Given the description of an element on the screen output the (x, y) to click on. 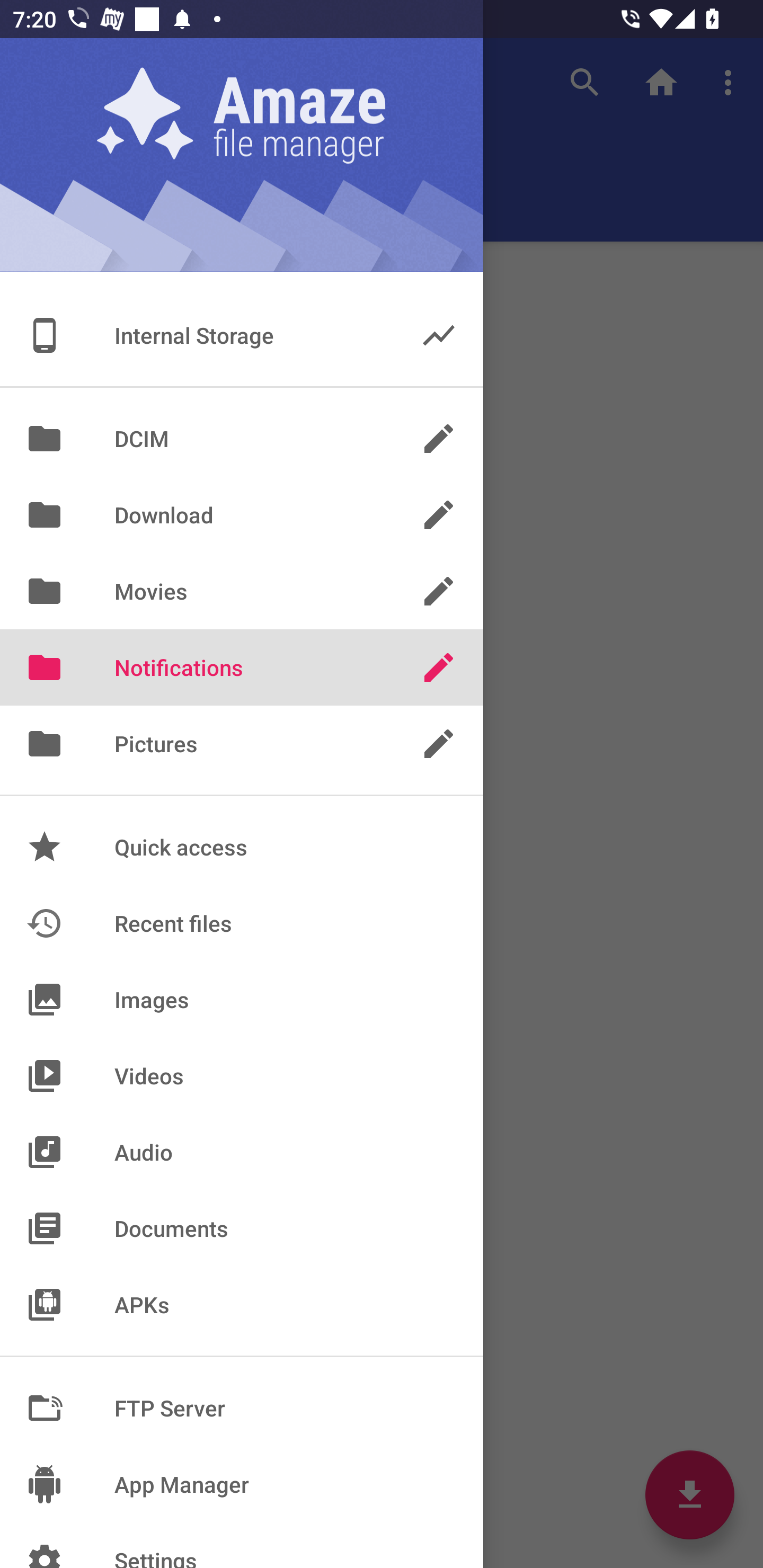
Internal Storage (241, 335)
DCIM (241, 437)
Download (241, 514)
Movies (241, 590)
Notifications (241, 666)
Pictures (241, 743)
Quick access (241, 847)
Recent files (241, 923)
Images (241, 999)
Videos (241, 1075)
Audio (241, 1151)
Documents (241, 1228)
APKs (241, 1304)
FTP Server (241, 1407)
App Manager (241, 1483)
Settings (241, 1545)
